Given the description of an element on the screen output the (x, y) to click on. 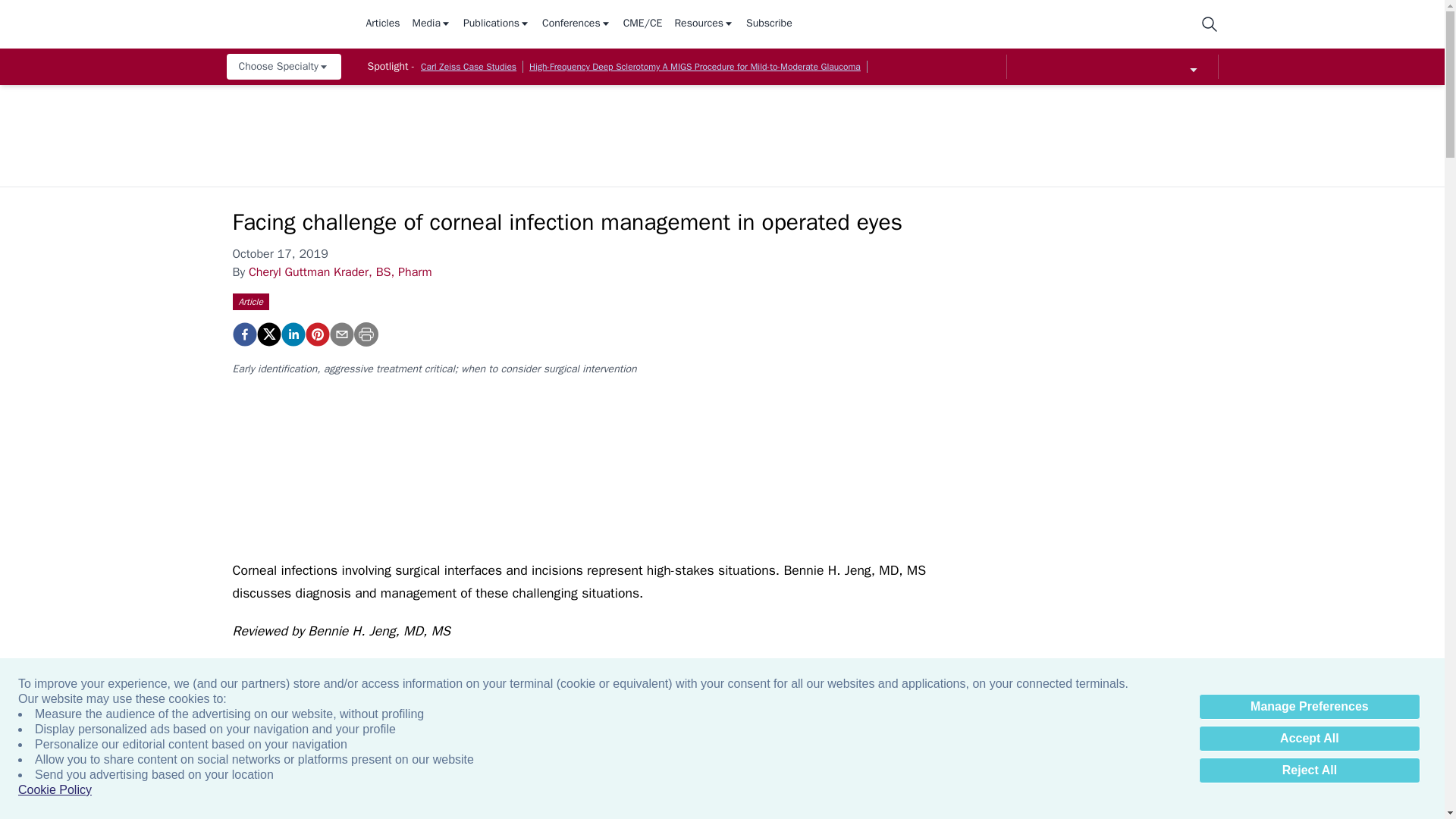
Accept All (1309, 738)
Conferences (576, 23)
Carl Zeiss Case Studies (468, 66)
Manage Preferences (1309, 706)
Resources (703, 23)
Articles (381, 23)
Subscribe (768, 23)
Publications (496, 23)
Cookie Policy (54, 789)
Media (431, 23)
Choose Specialty (282, 66)
